Given the description of an element on the screen output the (x, y) to click on. 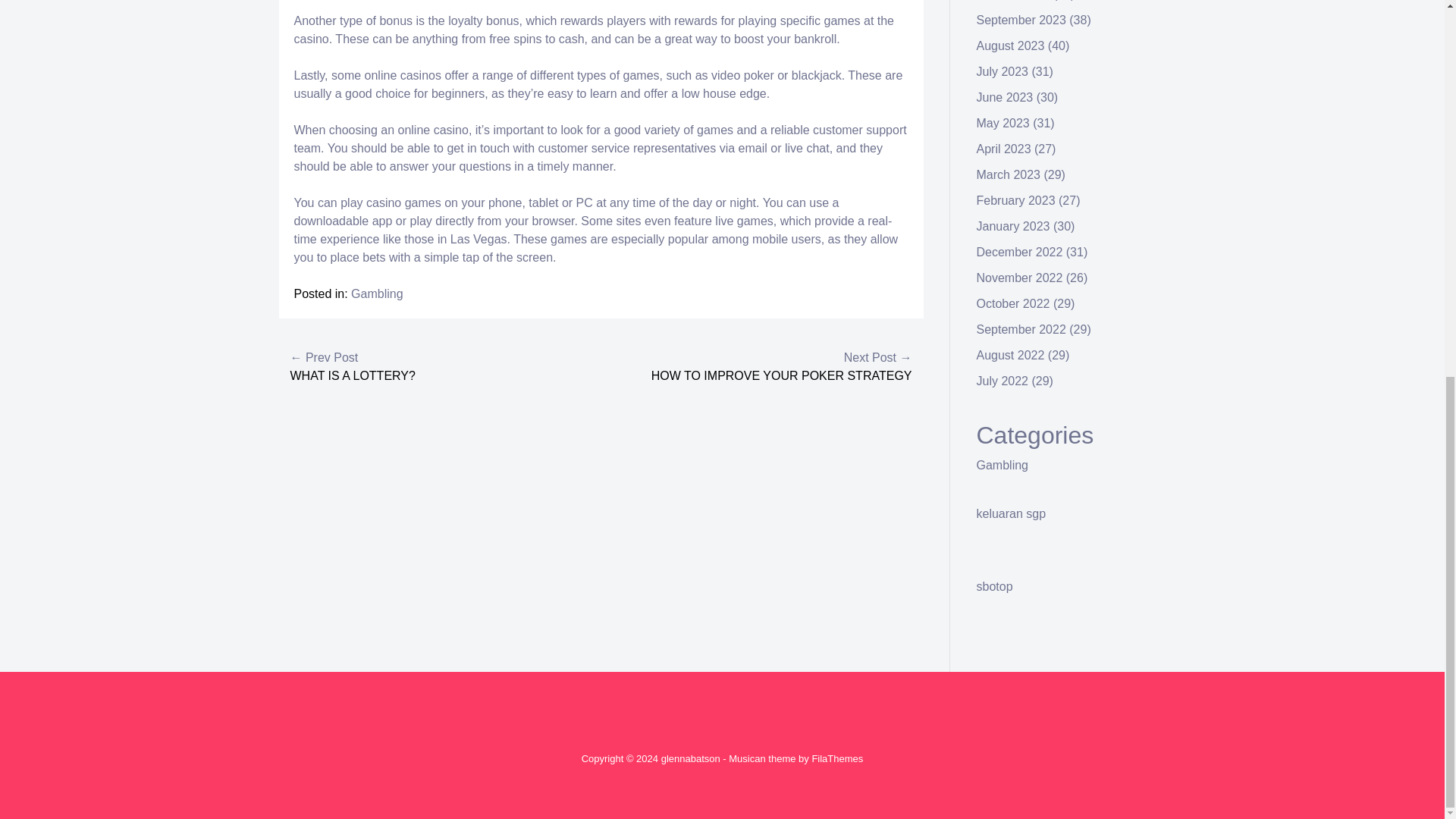
September 2023 (1020, 19)
June 2023 (1004, 97)
Gambling (1001, 464)
February 2023 (1015, 200)
April 2023 (1003, 148)
October 2022 (1012, 303)
May 2023 (1002, 123)
March 2023 (1008, 174)
July 2022 (1002, 380)
September 2022 (1020, 328)
November 2022 (1019, 277)
Gambling (376, 293)
January 2023 (1012, 226)
August 2022 (1010, 354)
October 2023 (1012, 0)
